Given the description of an element on the screen output the (x, y) to click on. 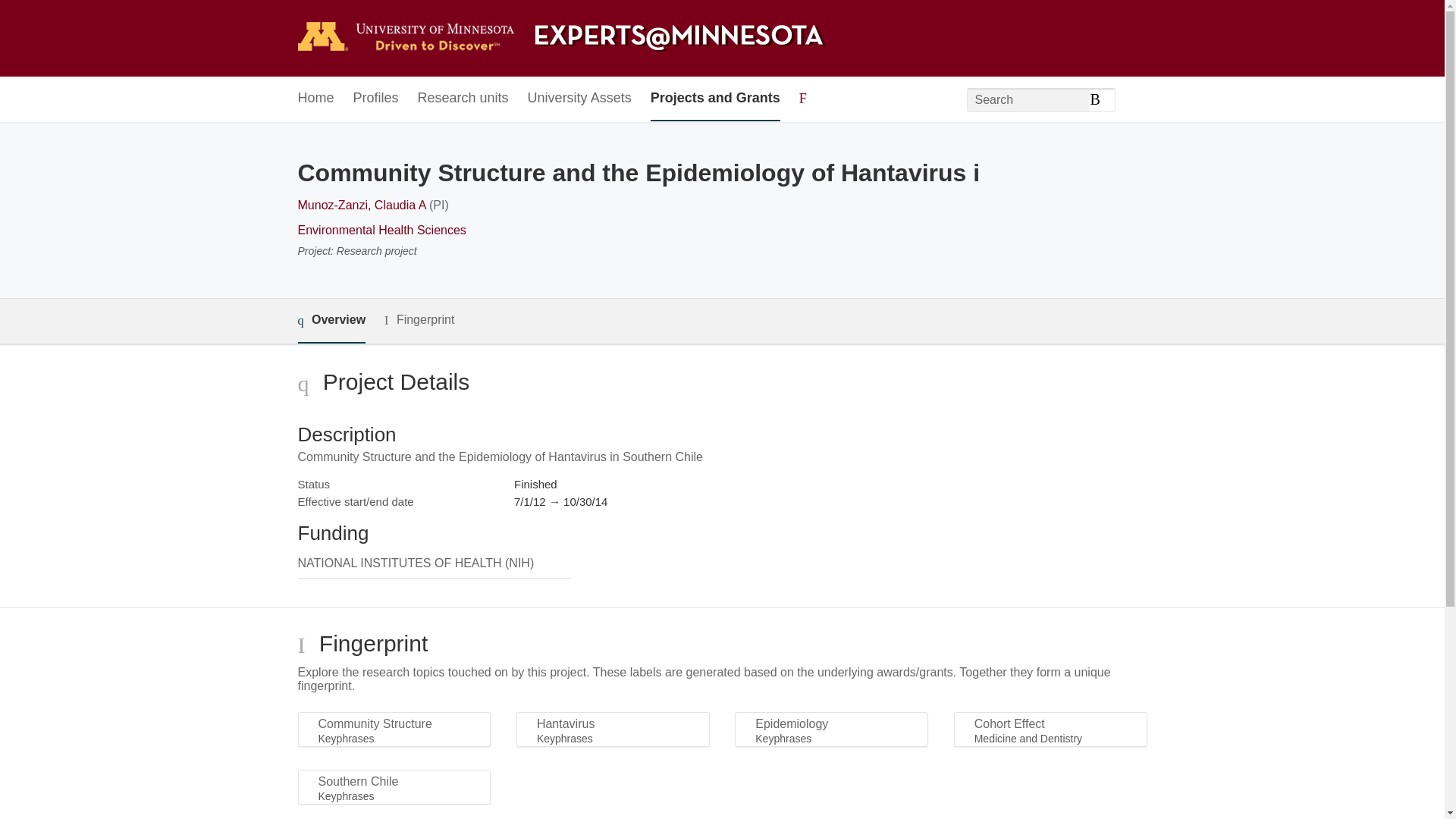
Overview (331, 320)
Fingerprint (419, 320)
Profiles (375, 98)
University Assets (579, 98)
Environmental Health Sciences (381, 229)
Research units (462, 98)
Projects and Grants (715, 98)
Munoz-Zanzi, Claudia A (361, 205)
